Given the description of an element on the screen output the (x, y) to click on. 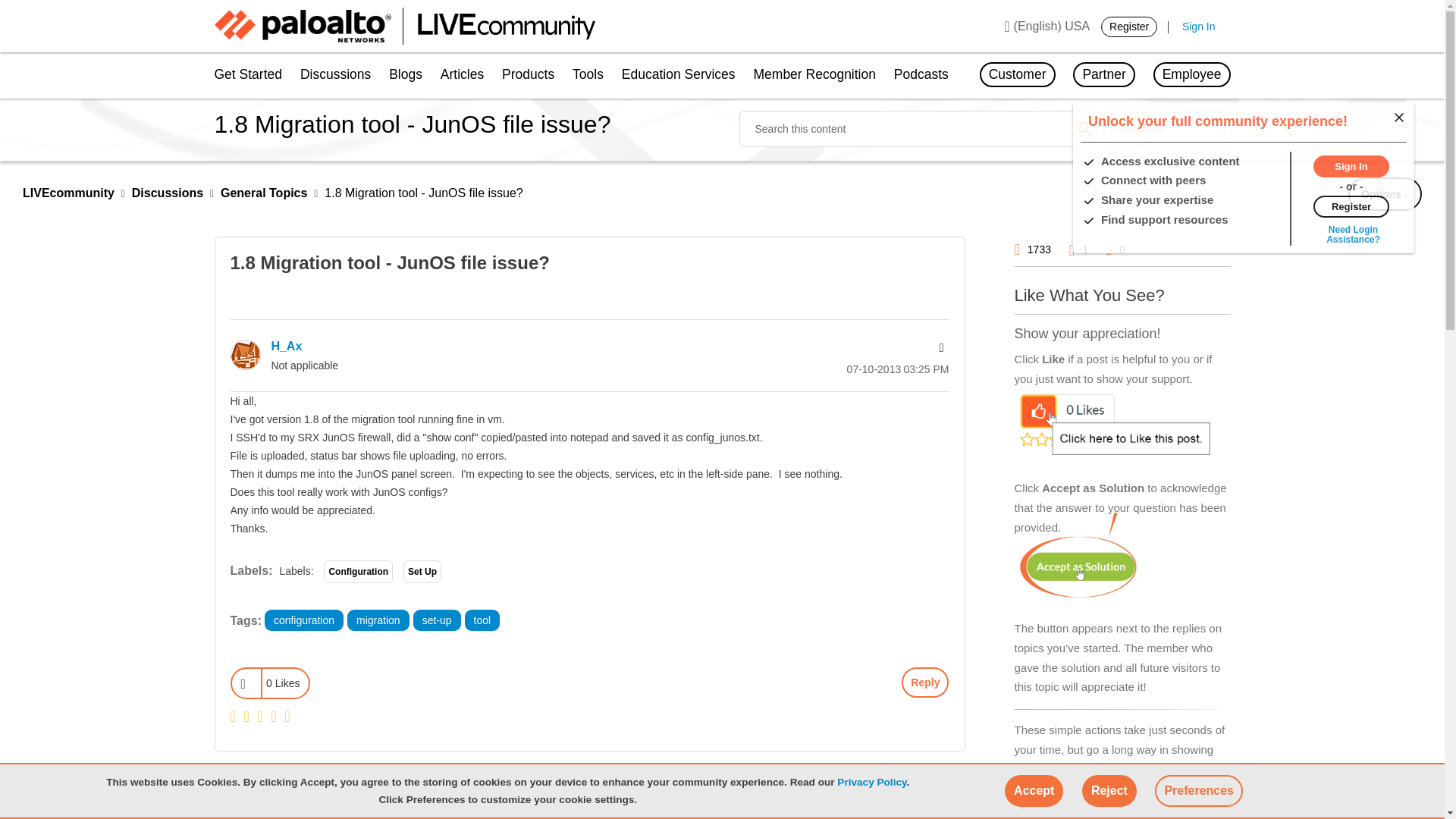
Discussions (335, 75)
Search (1084, 128)
Search (920, 128)
Reject (1109, 790)
Register (1351, 205)
View more (1353, 234)
Get Started (251, 75)
Sign In (1351, 164)
Register (1128, 26)
Sign In (1198, 26)
Preferences (1198, 790)
Search Granularity (1167, 128)
Privacy Policy (871, 781)
Search (1084, 128)
Accept (1033, 790)
